Given the description of an element on the screen output the (x, y) to click on. 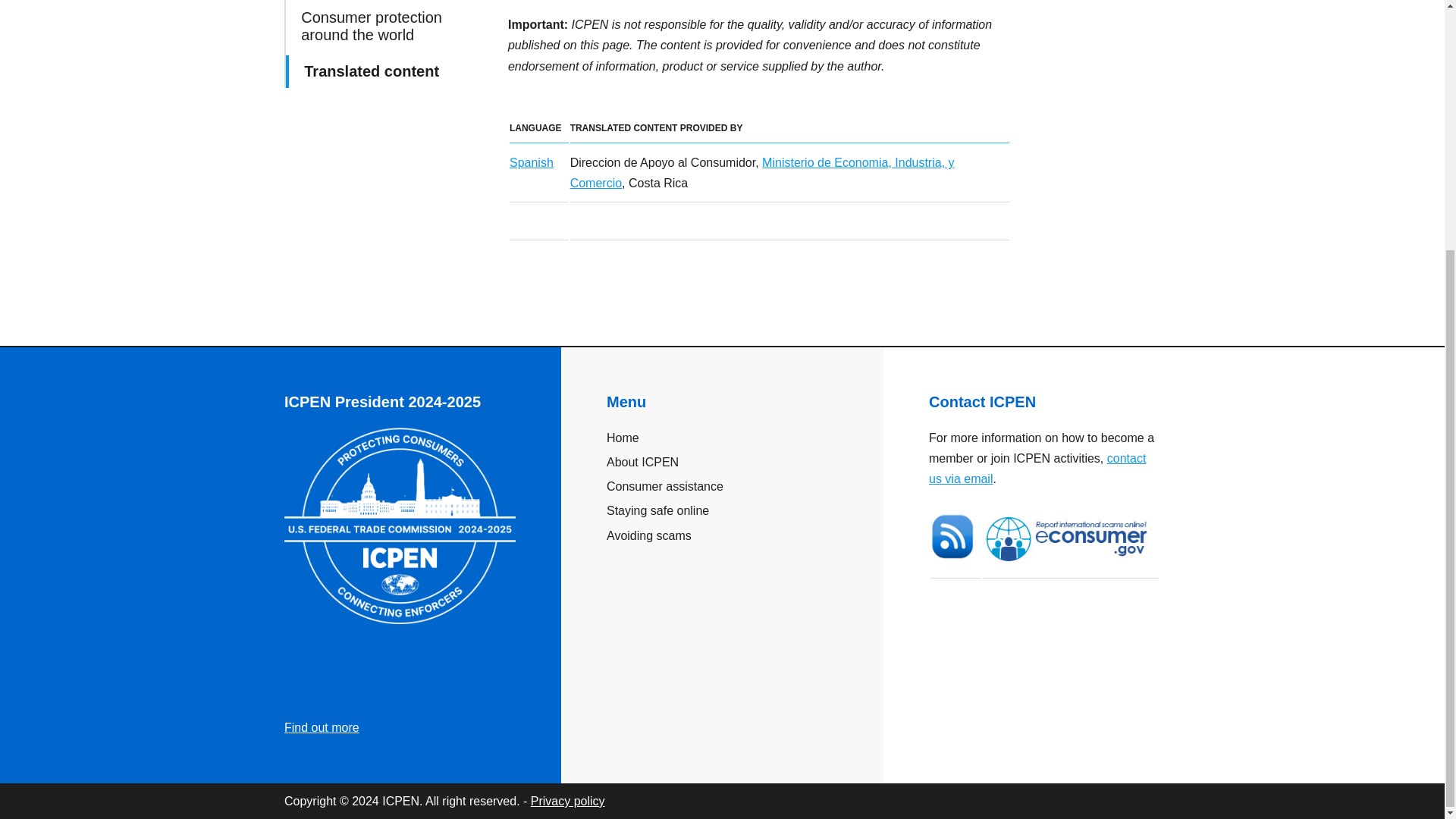
Spanish (531, 162)
Translated content (387, 71)
Avoiding scams (722, 535)
About ICPEN (722, 462)
Consumer assistance (722, 485)
Find out more (321, 727)
Privacy policy (568, 800)
Staying safe online (722, 510)
Ministerio de Economia, Industria, y Comercio (762, 172)
Translated content (387, 71)
